Given the description of an element on the screen output the (x, y) to click on. 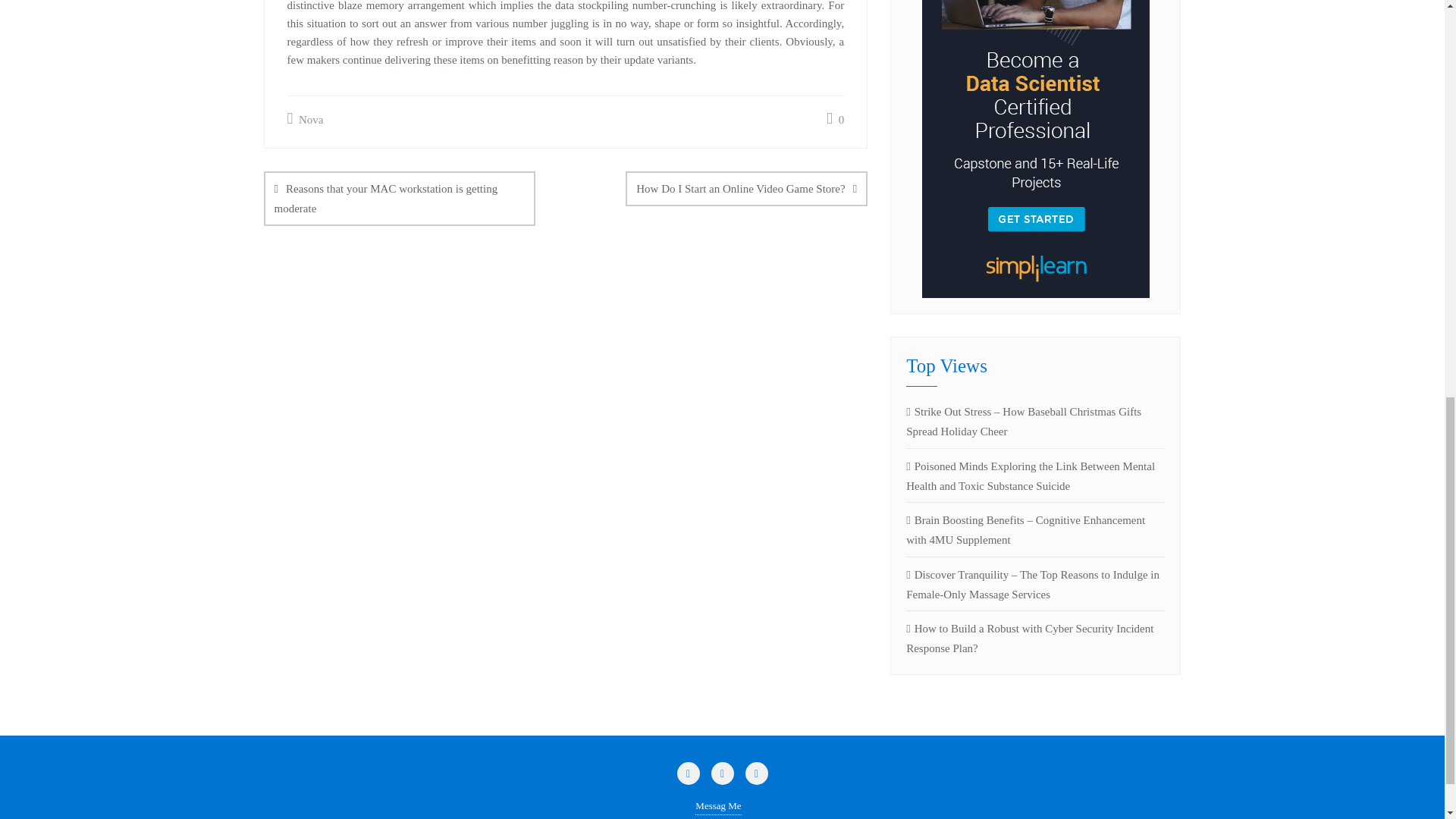
Messag Me (718, 805)
How Do I Start an Online Video Game Store? (746, 188)
Nova (304, 119)
Reasons that your MAC workstation is getting moderate (399, 198)
